Given the description of an element on the screen output the (x, y) to click on. 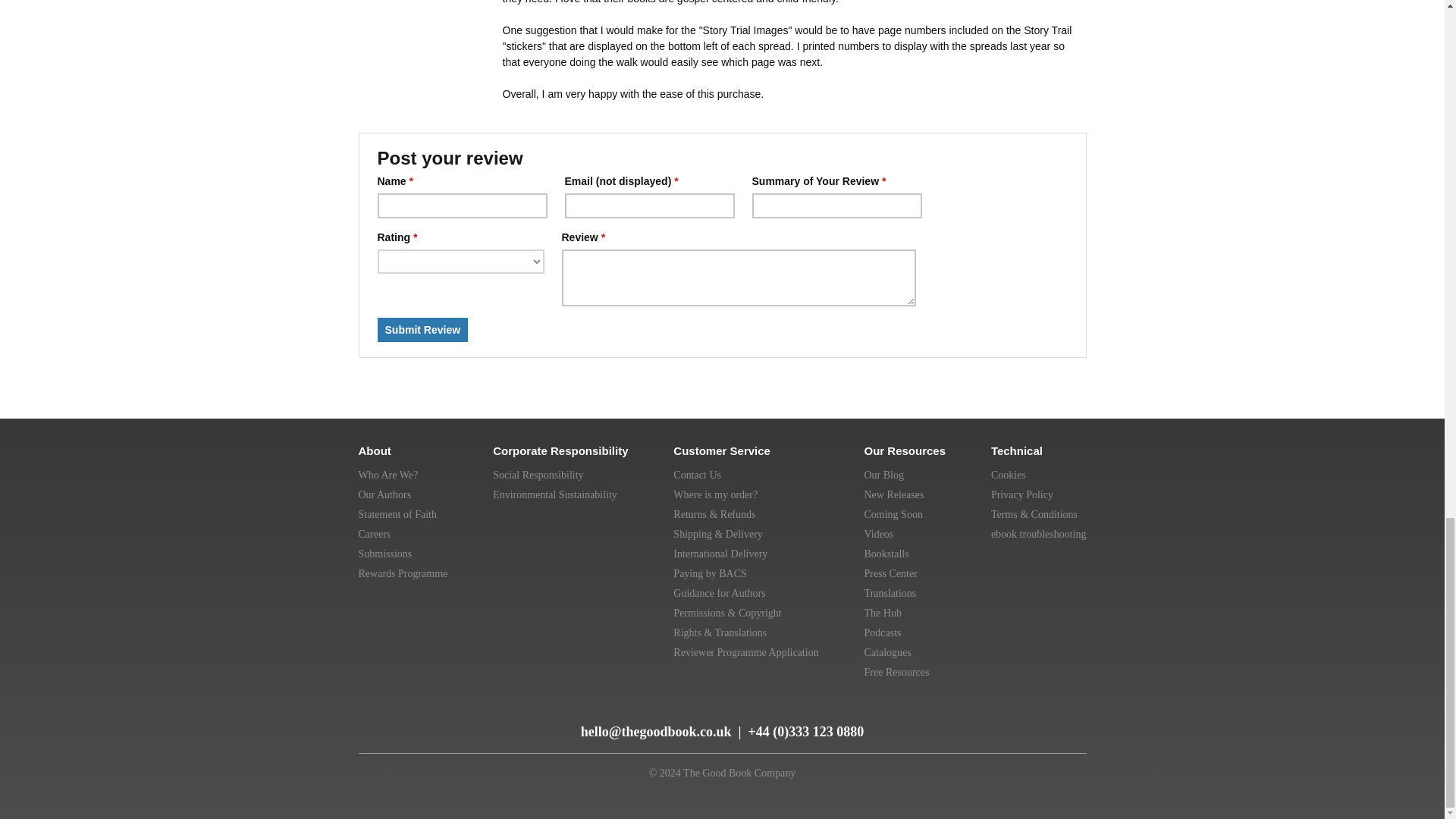
Go to US Website (972, 715)
Go to Australia Website (1006, 715)
Go to UK Website (937, 715)
Subscribe to feed (371, 725)
Go to New Zealand Website (1039, 715)
Submit Review (422, 329)
Go to South Africa Website (1071, 715)
